Given the description of an element on the screen output the (x, y) to click on. 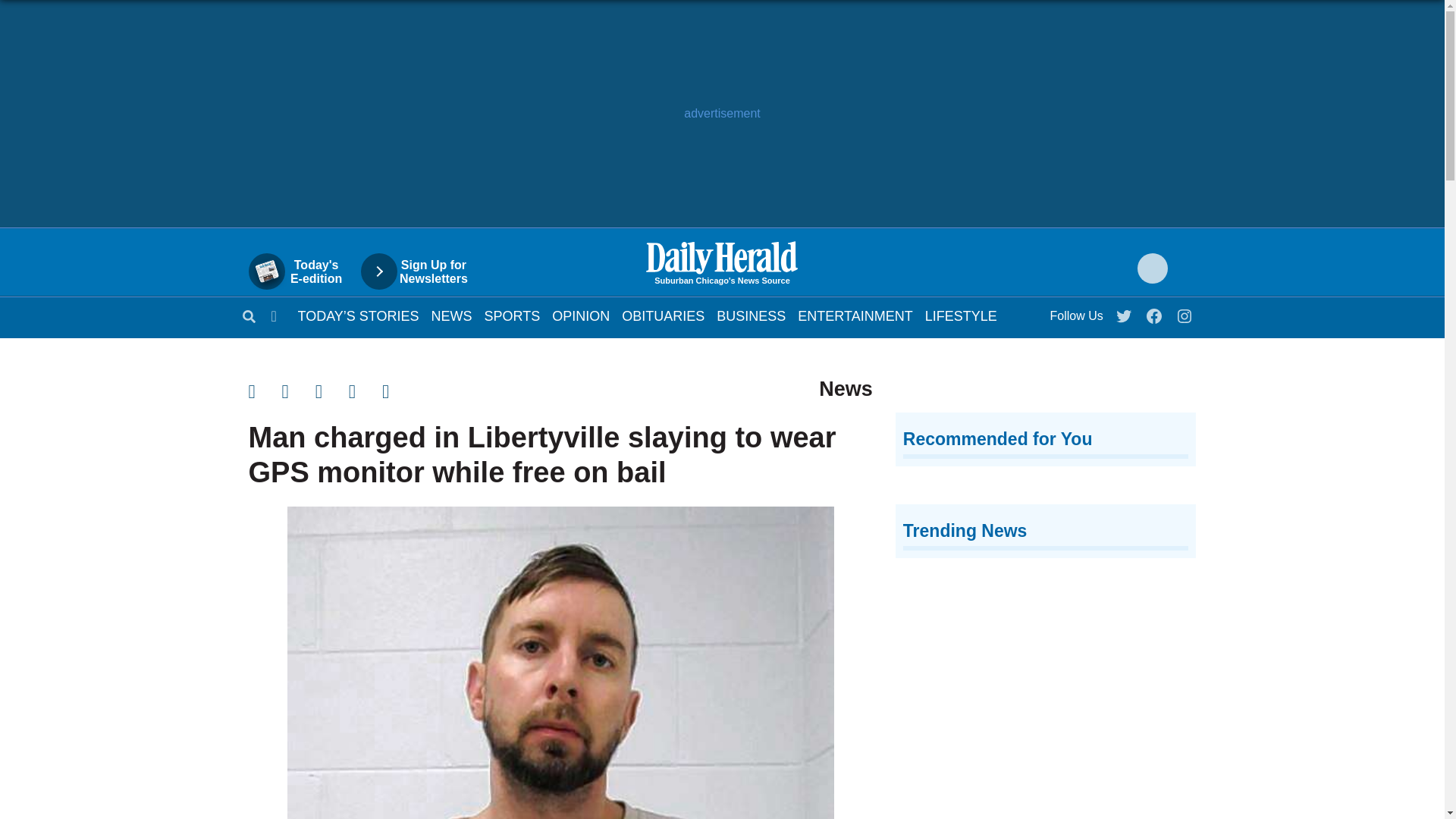
Business (751, 315)
Share via Email (332, 424)
Sports (512, 315)
Today's Stories (358, 315)
BUSINESS (751, 315)
SPORTS (512, 315)
Entertainment (854, 315)
OBITUARIES (662, 315)
ENTERTAINMENT (854, 315)
NEWS (450, 315)
